Given the description of an element on the screen output the (x, y) to click on. 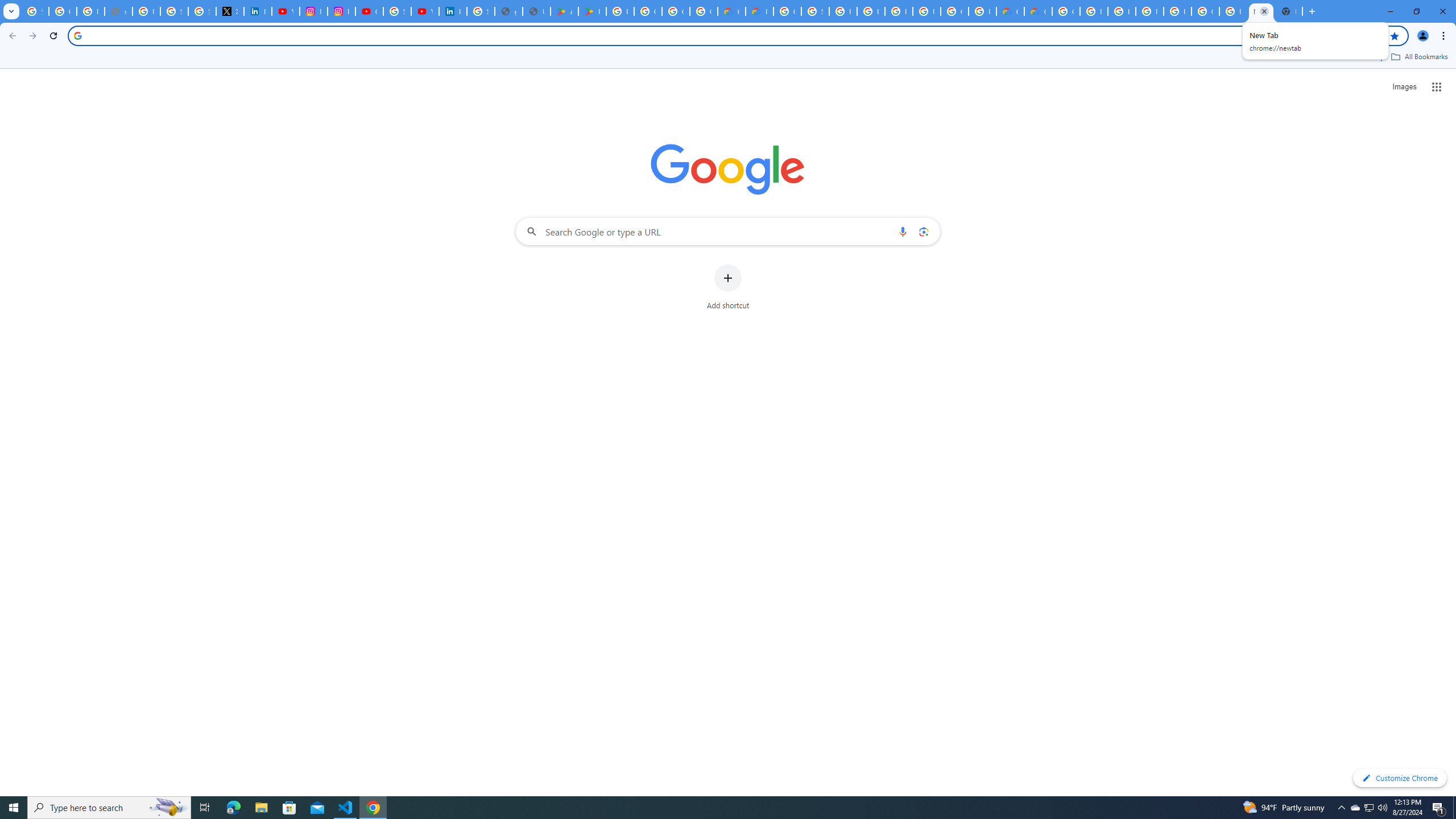
Browse Chrome as a guest - Computer - Google Chrome Help (842, 11)
Google Workspace - Specific Terms (675, 11)
Google Cloud Platform (955, 11)
Privacy Help Center - Policies Help (146, 11)
google_privacy_policy_en.pdf (508, 11)
Customer Care | Google Cloud (731, 11)
Search Google or type a URL (727, 230)
support.google.com - Network error (118, 11)
Search by image (922, 230)
Sign in - Google Accounts (480, 11)
